Given the description of an element on the screen output the (x, y) to click on. 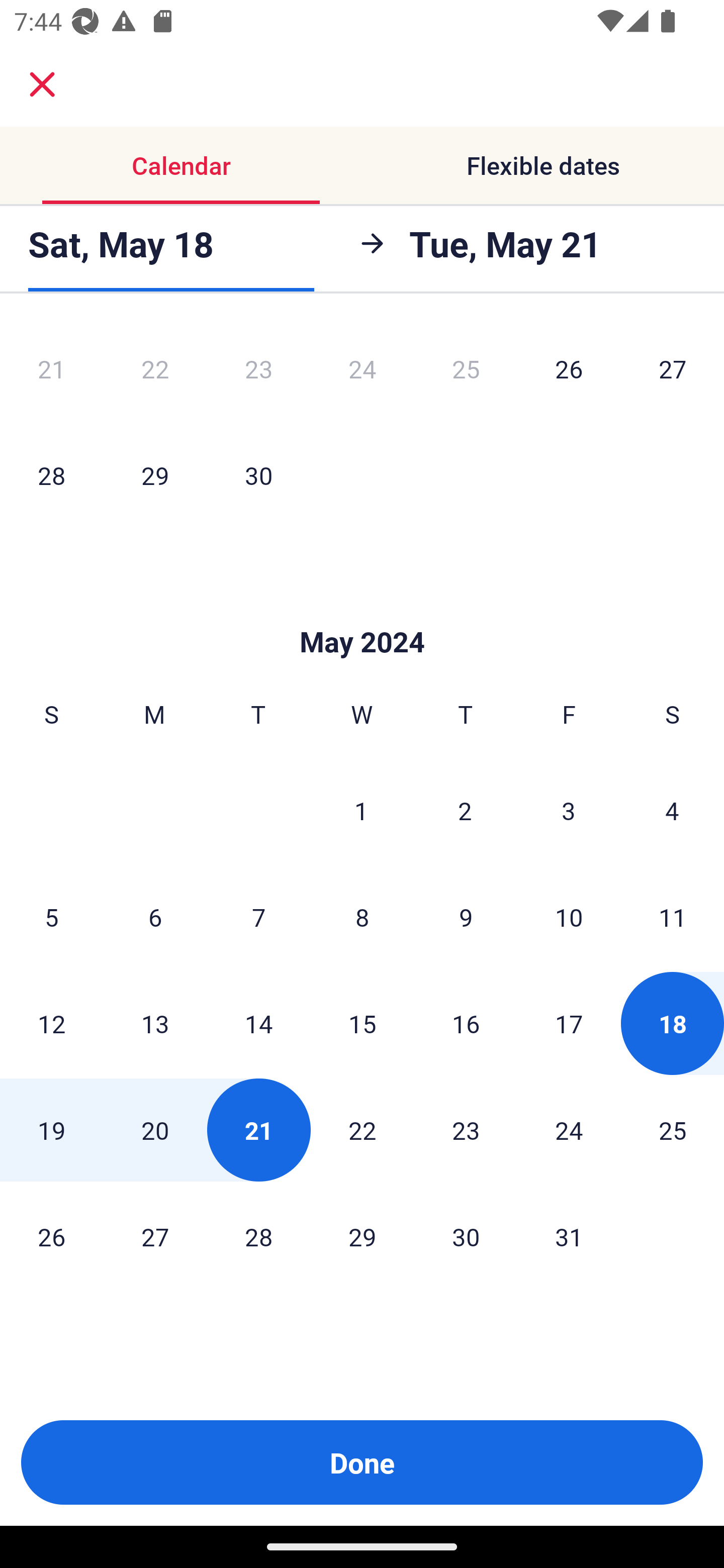
close. (42, 84)
Flexible dates (542, 164)
21 Sunday, April 21, 2024 (51, 370)
22 Monday, April 22, 2024 (155, 370)
23 Tuesday, April 23, 2024 (258, 370)
24 Wednesday, April 24, 2024 (362, 370)
25 Thursday, April 25, 2024 (465, 370)
26 Friday, April 26, 2024 (569, 370)
27 Saturday, April 27, 2024 (672, 370)
28 Sunday, April 28, 2024 (51, 474)
29 Monday, April 29, 2024 (155, 474)
30 Tuesday, April 30, 2024 (258, 474)
Skip to Done (362, 611)
1 Wednesday, May 1, 2024 (361, 810)
2 Thursday, May 2, 2024 (464, 810)
3 Friday, May 3, 2024 (568, 810)
4 Saturday, May 4, 2024 (672, 810)
5 Sunday, May 5, 2024 (51, 917)
6 Monday, May 6, 2024 (155, 917)
7 Tuesday, May 7, 2024 (258, 917)
8 Wednesday, May 8, 2024 (362, 917)
9 Thursday, May 9, 2024 (465, 917)
10 Friday, May 10, 2024 (569, 917)
11 Saturday, May 11, 2024 (672, 917)
12 Sunday, May 12, 2024 (51, 1023)
13 Monday, May 13, 2024 (155, 1023)
14 Tuesday, May 14, 2024 (258, 1023)
15 Wednesday, May 15, 2024 (362, 1023)
16 Thursday, May 16, 2024 (465, 1023)
17 Friday, May 17, 2024 (569, 1023)
22 Wednesday, May 22, 2024 (362, 1130)
23 Thursday, May 23, 2024 (465, 1130)
24 Friday, May 24, 2024 (569, 1130)
25 Saturday, May 25, 2024 (672, 1130)
26 Sunday, May 26, 2024 (51, 1236)
27 Monday, May 27, 2024 (155, 1236)
28 Tuesday, May 28, 2024 (258, 1236)
29 Wednesday, May 29, 2024 (362, 1236)
30 Thursday, May 30, 2024 (465, 1236)
31 Friday, May 31, 2024 (569, 1236)
Done (361, 1462)
